Given the description of an element on the screen output the (x, y) to click on. 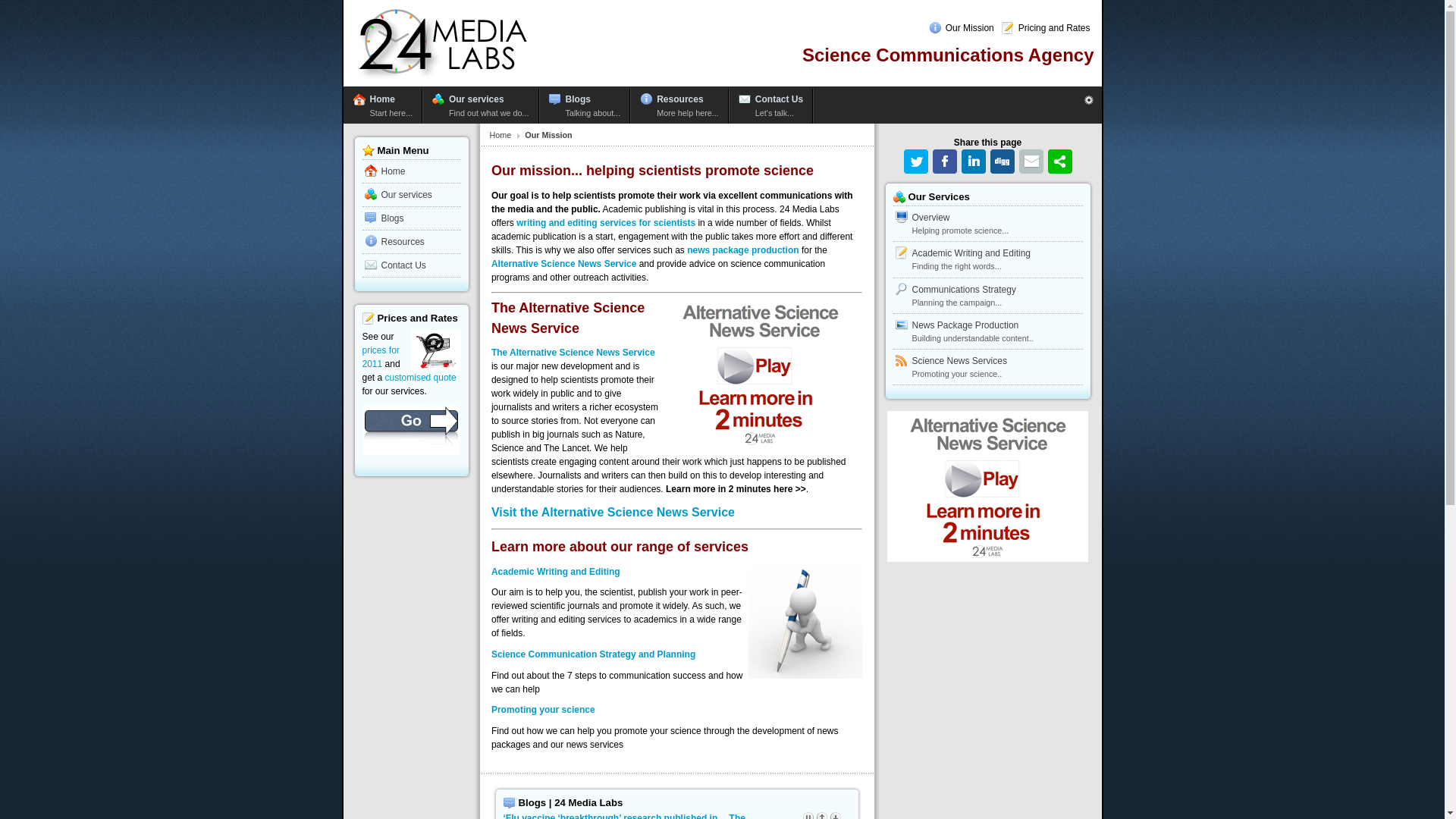
Contact Us Element type: text (411, 265)
Pricing and Rates Element type: text (1045, 27)
Visit the Alternative Science News Service Element type: text (612, 513)
customised quote Element type: text (420, 377)
Academic Writing and Editing Element type: text (555, 571)
Promoting your science Element type: text (543, 709)
writing and editing services for scientists Element type: text (605, 222)
Blogs Element type: text (411, 218)
The Alternative Science News Service Element type: text (573, 352)
Resources Element type: text (411, 242)
Our services
Find out what we do... Element type: text (481, 105)
news package production Element type: text (742, 249)
Science Communication Strategy and Planning Element type: text (593, 654)
Contact Us
Let's talk... Element type: text (770, 105)
Blogs
Talking about... Element type: text (584, 105)
News Package Production
Building understandable content.. Element type: text (987, 331)
Resources
More help here... Element type: text (679, 105)
Our Mission Element type: text (961, 27)
Academic Writing and Editing
Finding the right words... Element type: text (987, 259)
Science News Services
Promoting your science.. Element type: text (987, 367)
Home Element type: text (411, 171)
prices for 2011 Element type: text (380, 357)
Get the latest prices for our services and a quote Element type: hover (411, 430)
Overview
Helping promote science... Element type: text (987, 223)
24 Media Labs - Science Communications Agency Element type: hover (444, 83)
Home Element type: text (507, 134)
Home
Start here... Element type: text (383, 105)
Our services Element type: text (411, 195)
Communications Strategy
Planning the campaign... Element type: text (987, 295)
Alternative Science News Service Element type: text (563, 263)
